Given the description of an element on the screen output the (x, y) to click on. 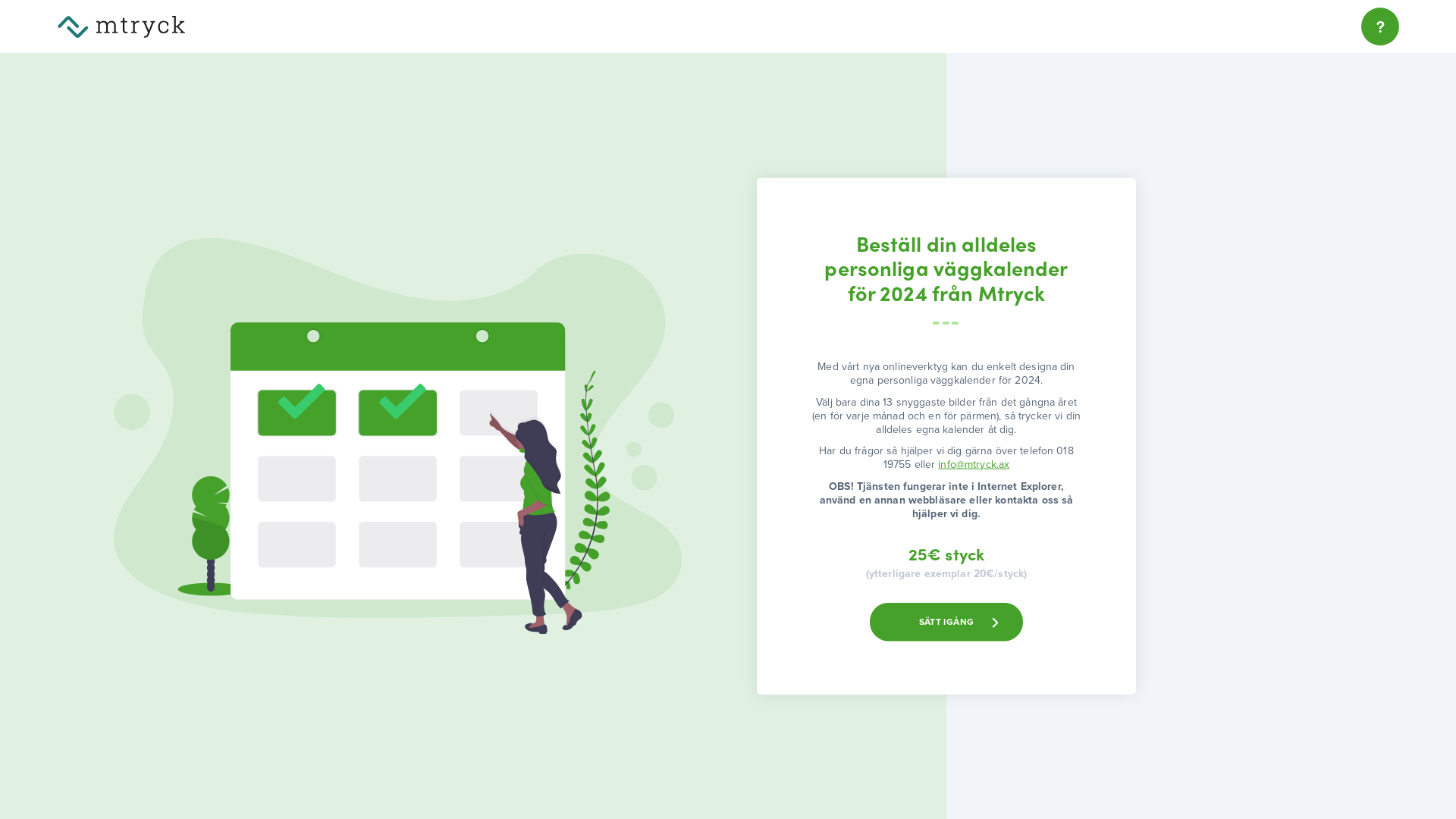
info@mtryck.ax Element type: text (973, 464)
Mariehamns Tryckeri Kalender Element type: text (120, 26)
